Given the description of an element on the screen output the (x, y) to click on. 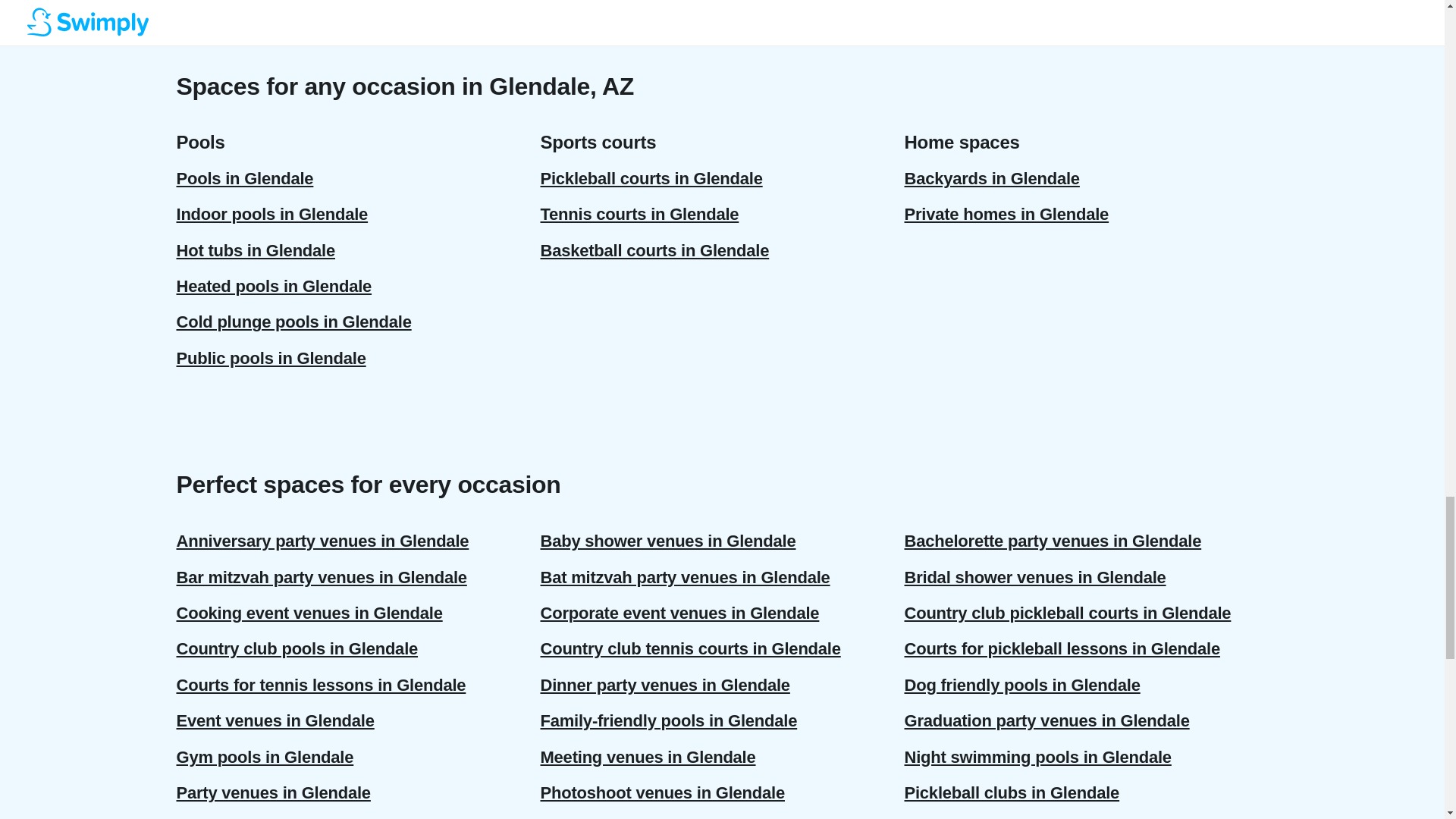
Tennis courts in Glendale (722, 213)
Private homes in Glendale (1086, 213)
Backyards in Glendale (1086, 178)
Basketball courts in Glendale (722, 250)
Indoor pools in Glendale (358, 213)
Cold plunge pools in Glendale (358, 321)
Hot tubs in Glendale (358, 250)
Public pools in Glendale (358, 357)
Pools in Glendale (358, 178)
Pickleball courts in Glendale (722, 178)
